Given the description of an element on the screen output the (x, y) to click on. 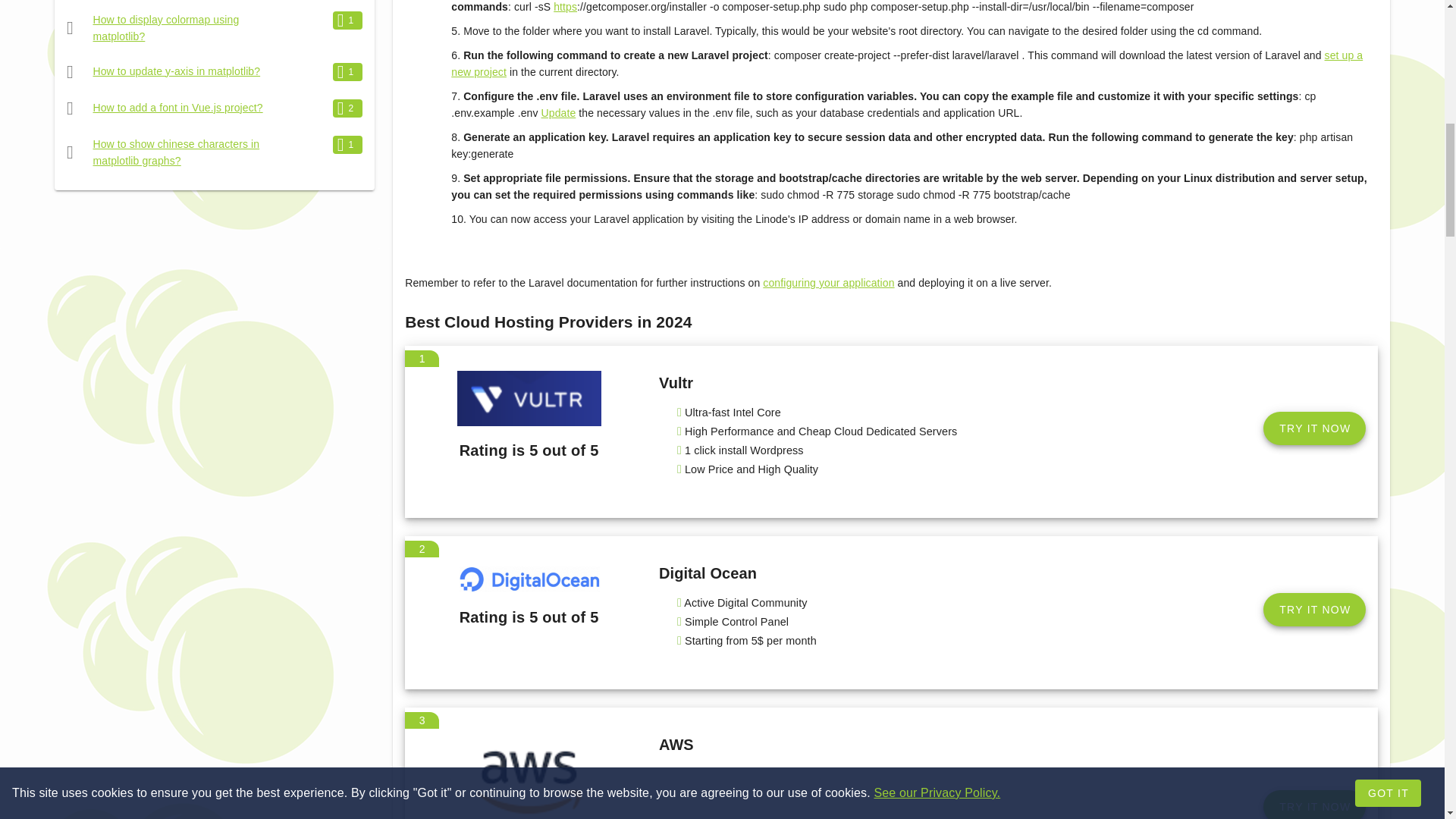
Update (558, 112)
How to add a font in Vue.js project? (178, 107)
How to show chinese characters in matplotlib graphs? (176, 152)
How to update y-axis in matplotlib? (176, 70)
TRY IT NOW (1314, 428)
https (564, 6)
set up a new project (906, 63)
How to add a font in Vue.js project? (178, 107)
configuring your application (827, 282)
How to display colormap using matplotlib? (166, 27)
TRY IT NOW (1314, 804)
TRY IT NOW (1314, 609)
How to show chinese characters in matplotlib graphs? (176, 152)
How to display colormap using matplotlib? (166, 27)
How to update y-axis in matplotlib? (176, 70)
